Given the description of an element on the screen output the (x, y) to click on. 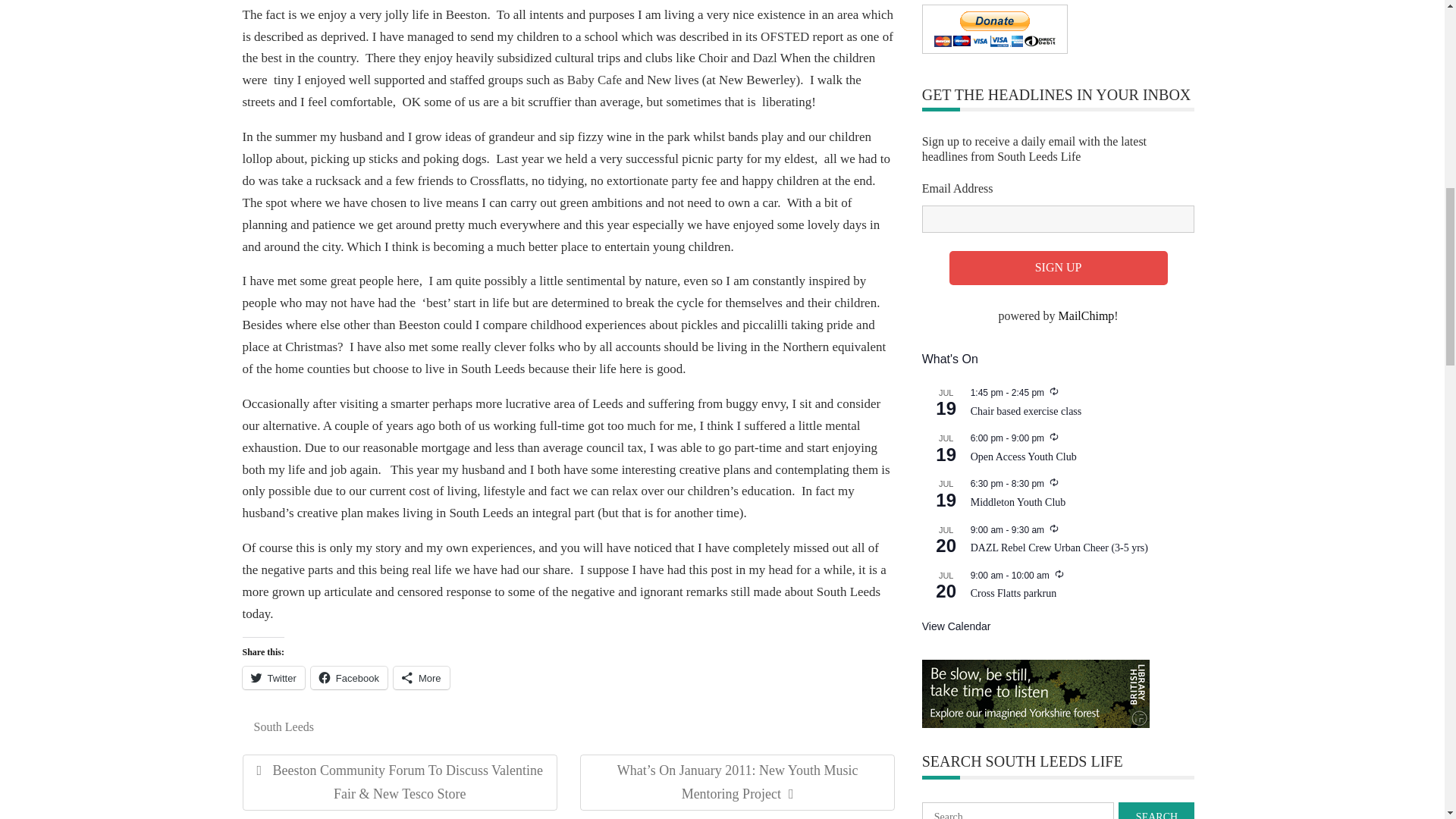
Recurring (1053, 481)
Click to share on Twitter (273, 677)
Recurring (1053, 390)
Recurring (1053, 528)
Click to share on Facebook (349, 677)
Search (1155, 810)
Recurring (1059, 573)
Sign up (1058, 267)
Recurring (1053, 436)
Search (1155, 810)
